Given the description of an element on the screen output the (x, y) to click on. 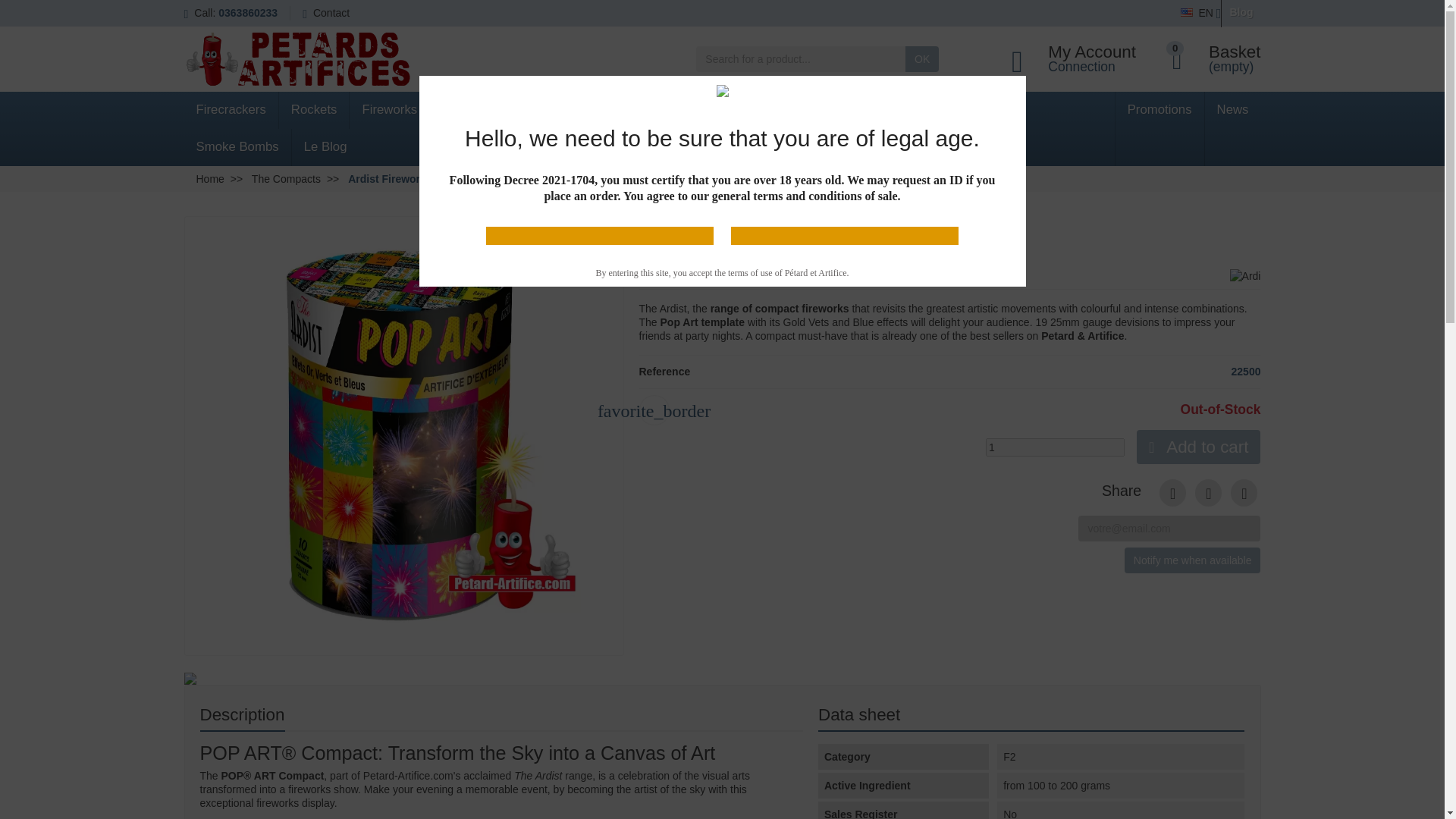
Candles (465, 109)
OK (922, 58)
Rockets (314, 109)
Description (242, 716)
Smoke Bombs (237, 147)
The Compacts (285, 178)
Notify me when available (1192, 560)
Firecrackers (230, 109)
Stage Fountains and Volcanoes (912, 109)
Home (209, 178)
